Given the description of an element on the screen output the (x, y) to click on. 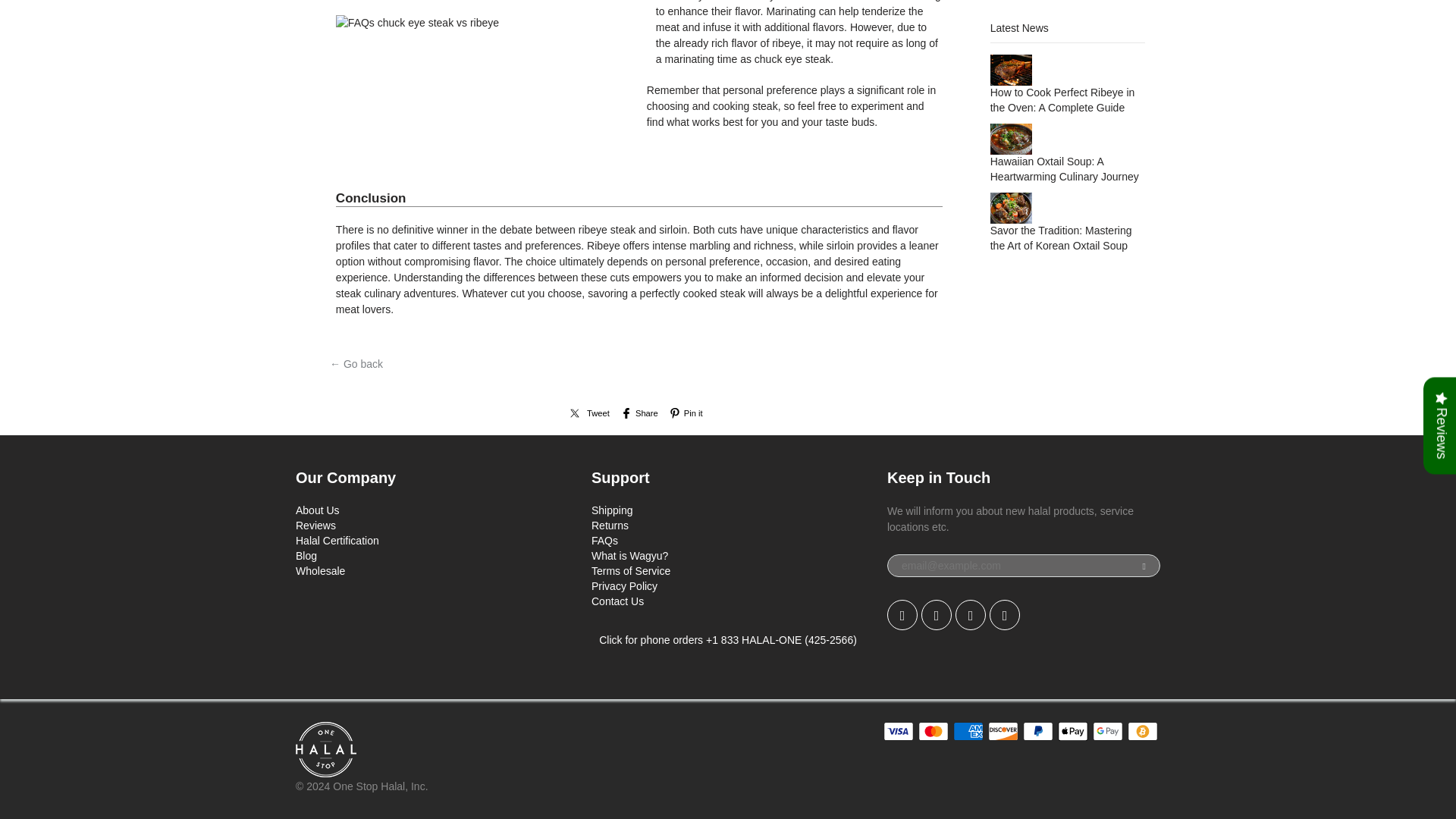
Pinterest (970, 614)
Facebook (936, 614)
Twitter (901, 614)
Instagram (1005, 614)
